Given the description of an element on the screen output the (x, y) to click on. 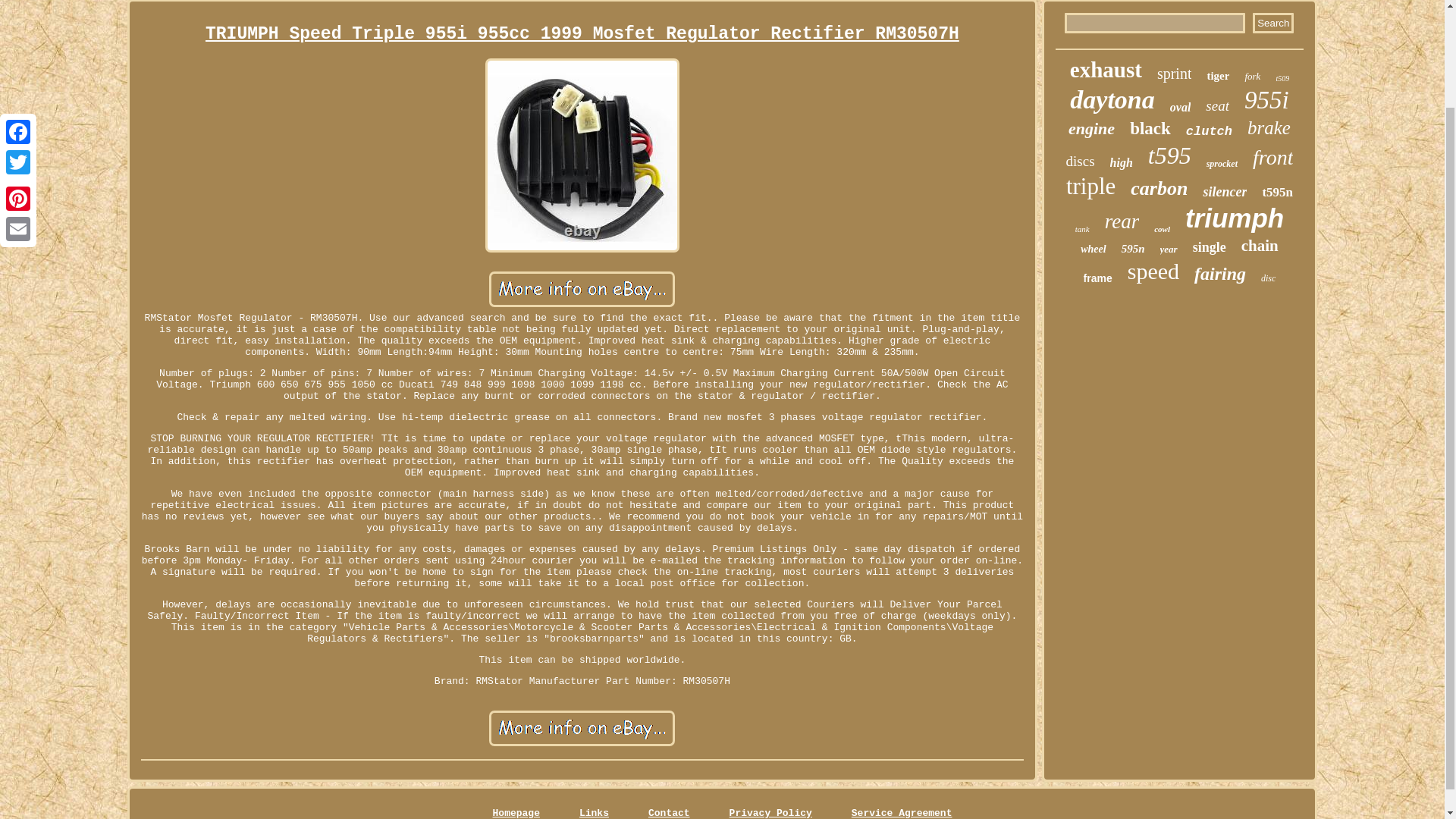
seat (1216, 105)
t595n (1277, 192)
front (1272, 157)
discs (1079, 161)
high (1120, 162)
Search (1273, 23)
Email (17, 112)
Pinterest (17, 81)
exhaust (1105, 69)
oval (1180, 107)
daytona (1112, 99)
fork (1252, 76)
Facebook (17, 15)
